Given the description of an element on the screen output the (x, y) to click on. 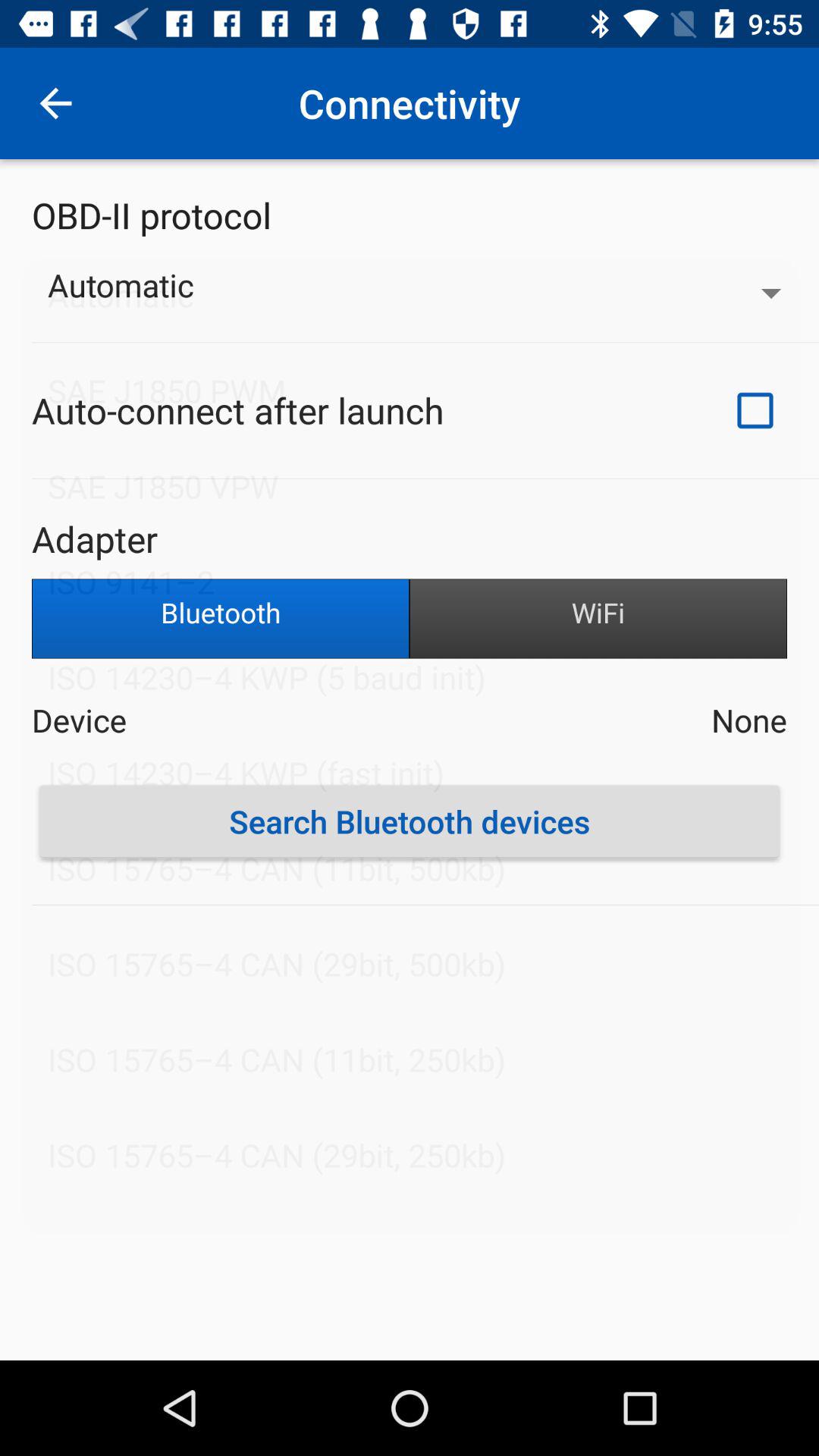
tap the item next to auto connect after icon (755, 410)
